Given the description of an element on the screen output the (x, y) to click on. 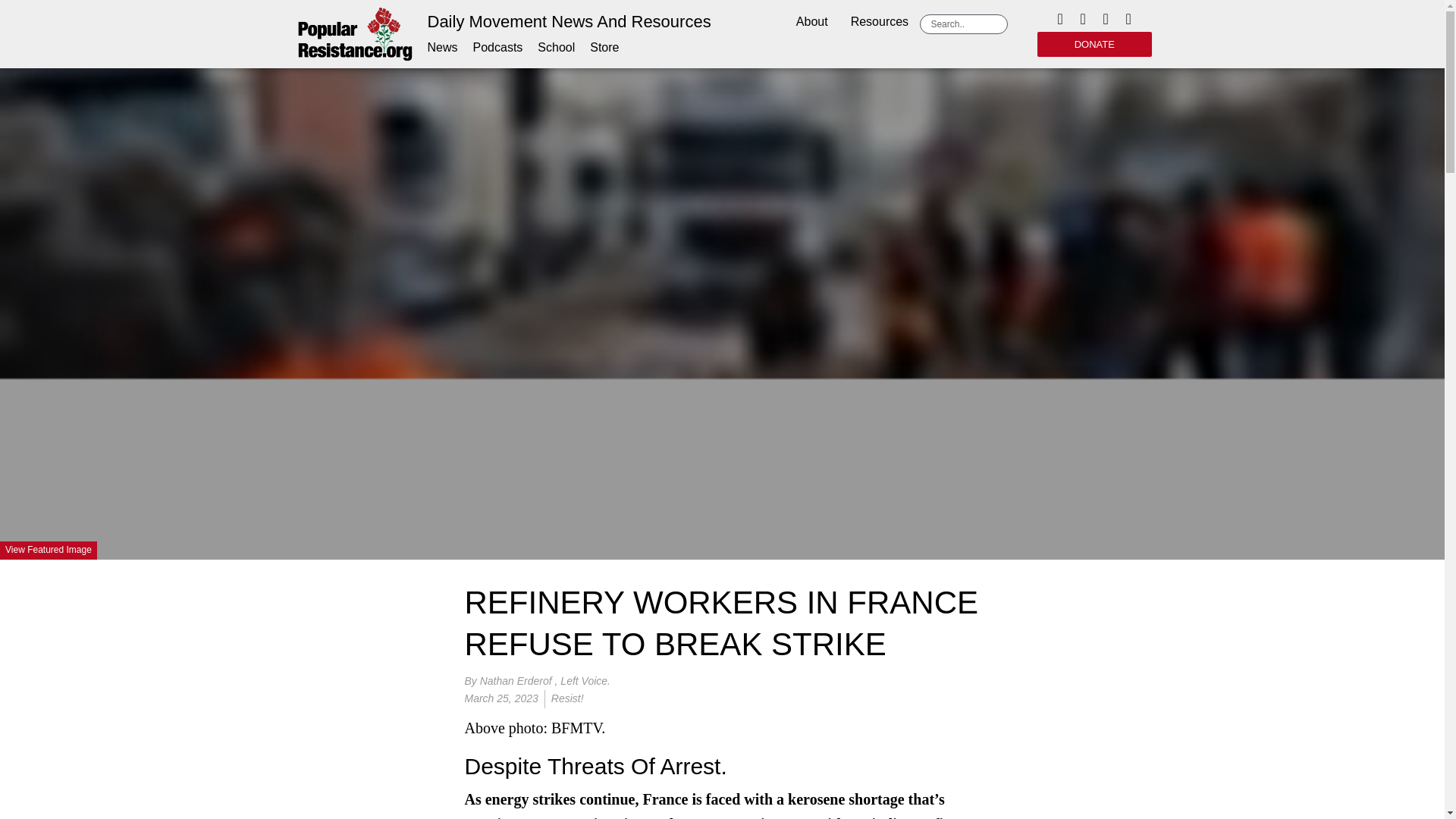
About (812, 22)
Resources (880, 22)
Podcasts (497, 47)
Store (603, 47)
News (443, 47)
School (556, 47)
Search (966, 24)
